Given the description of an element on the screen output the (x, y) to click on. 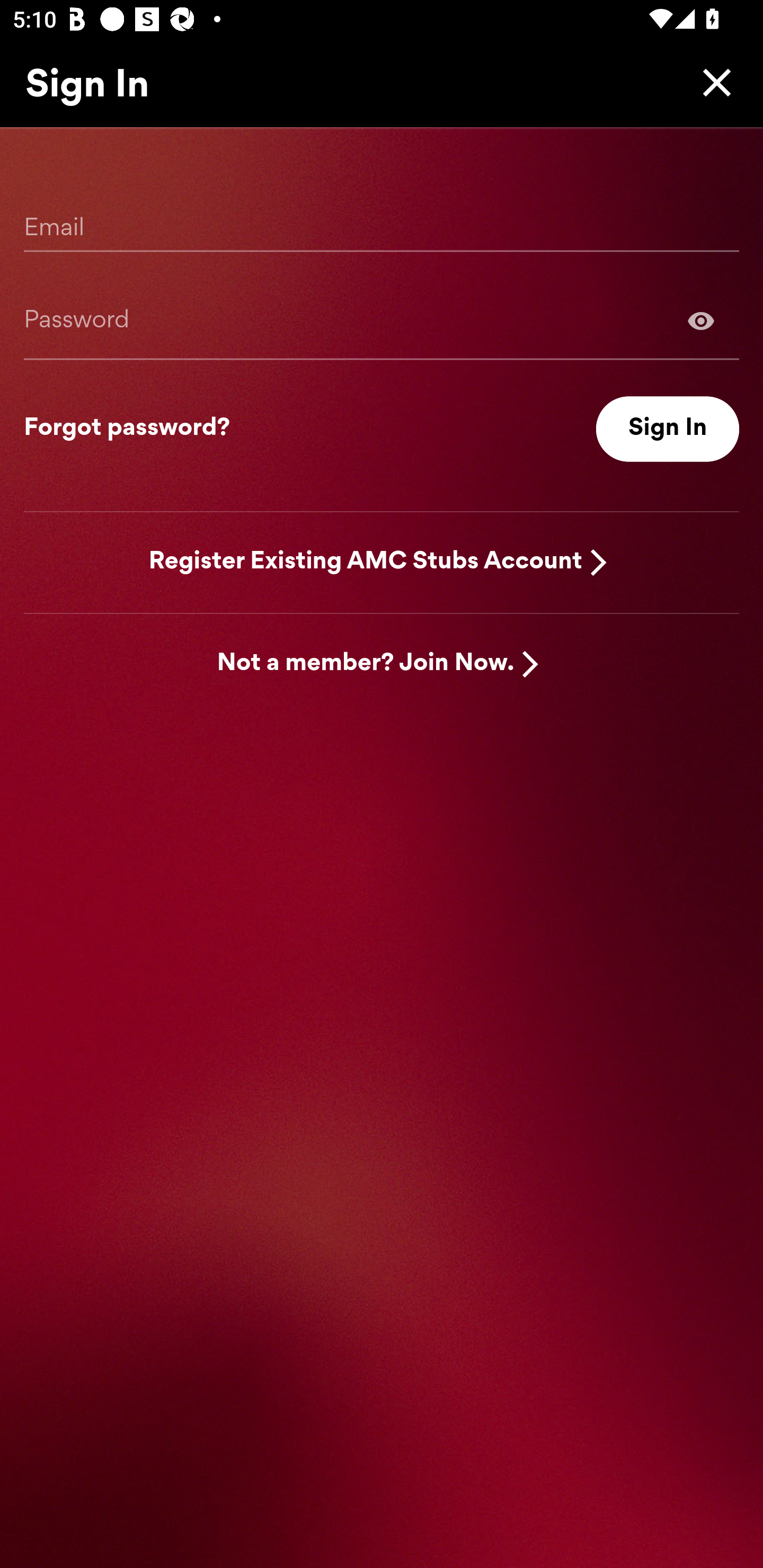
Close (712, 82)
Show Password (381, 320)
Show Password (701, 320)
Forgot password? (126, 428)
Sign In (667, 428)
Register Existing AMC Stubs Account (365, 561)
Not a member? Join Now. (365, 663)
